Given the description of an element on the screen output the (x, y) to click on. 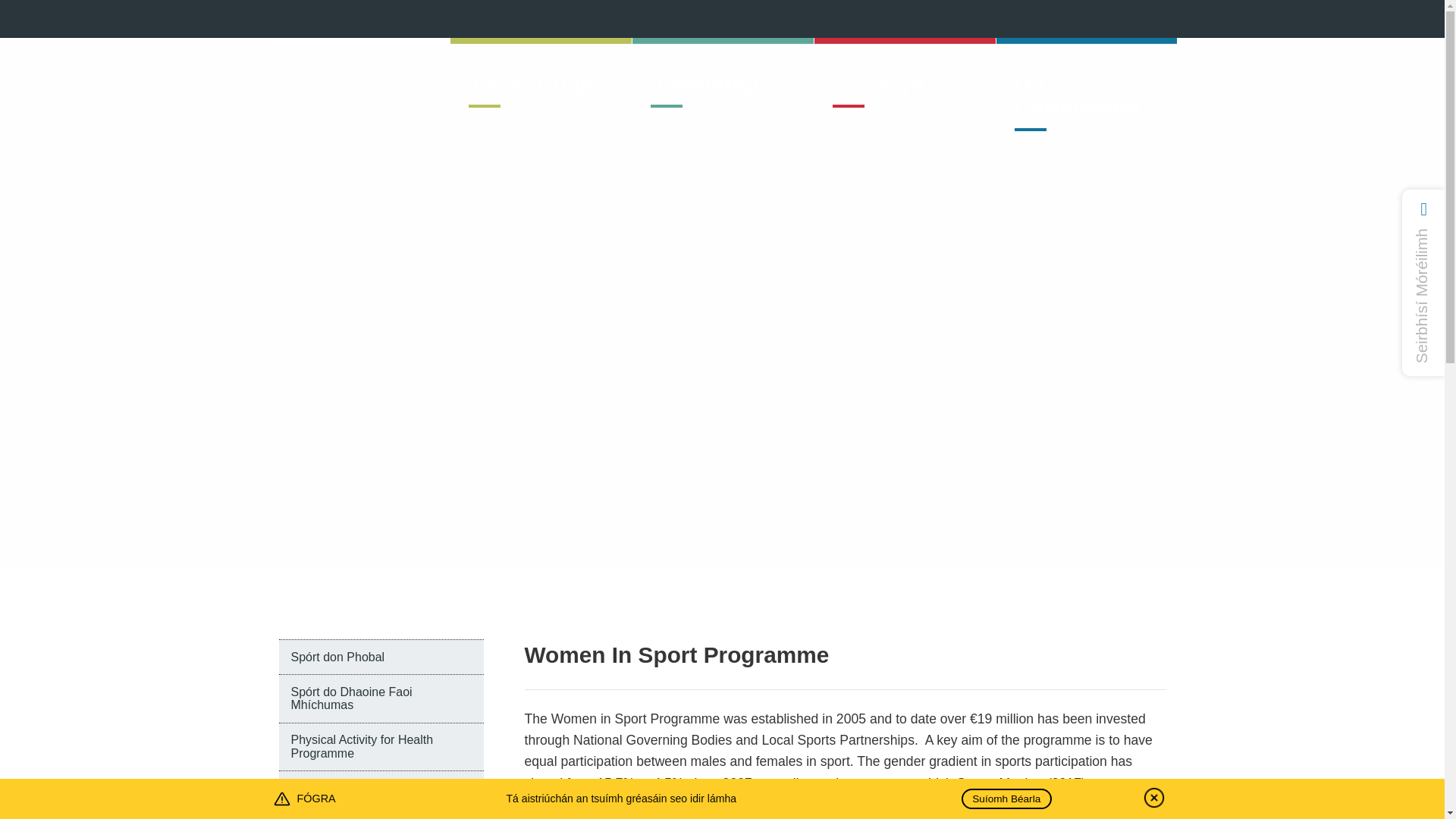
Infheistigh (722, 100)
Tar ar Cuairt (540, 100)
